Given the description of an element on the screen output the (x, y) to click on. 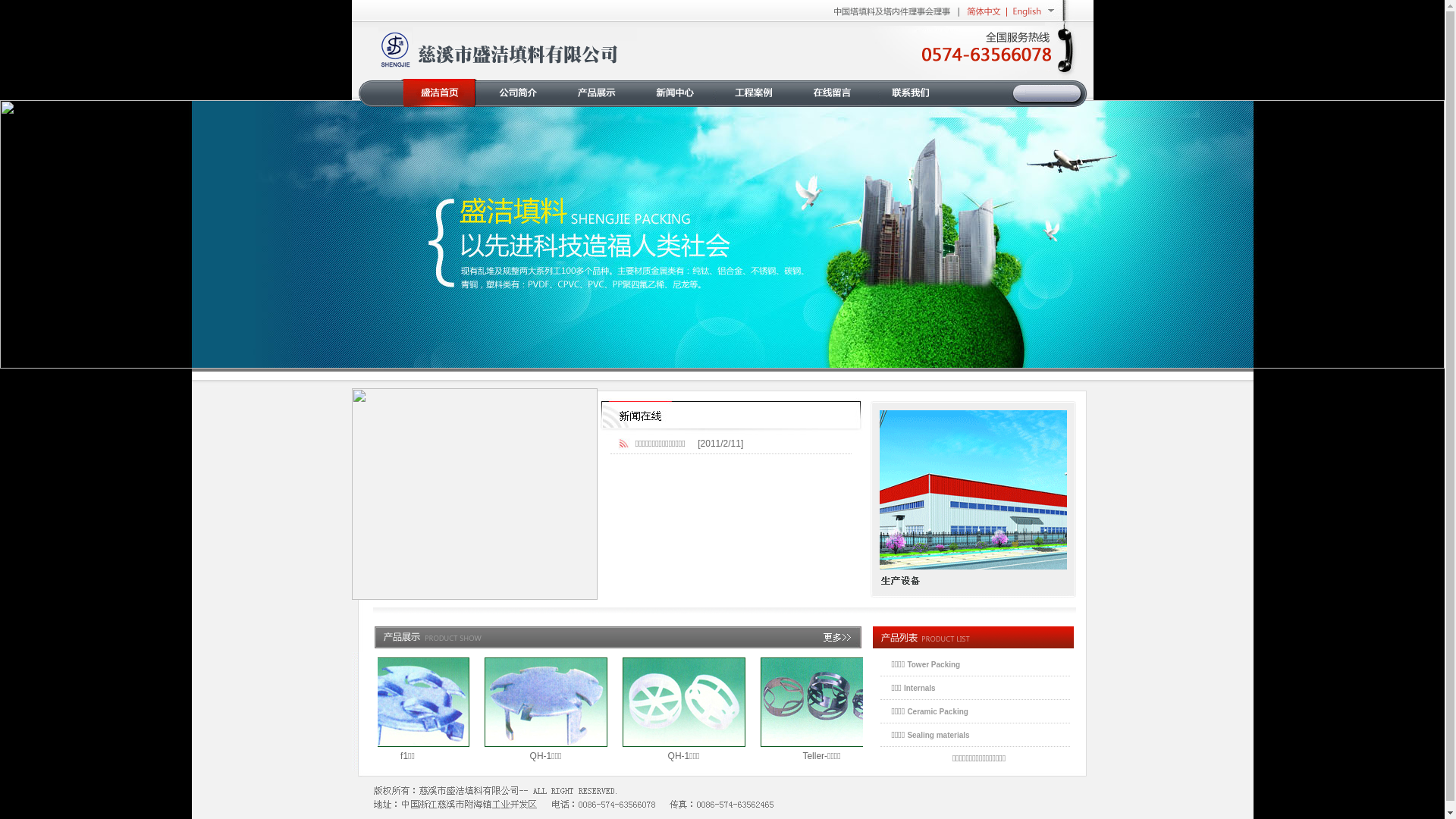
2 Element type: text (721, 352)
2 Element type: text (740, 352)
1 Element type: text (704, 352)
